Given the description of an element on the screen output the (x, y) to click on. 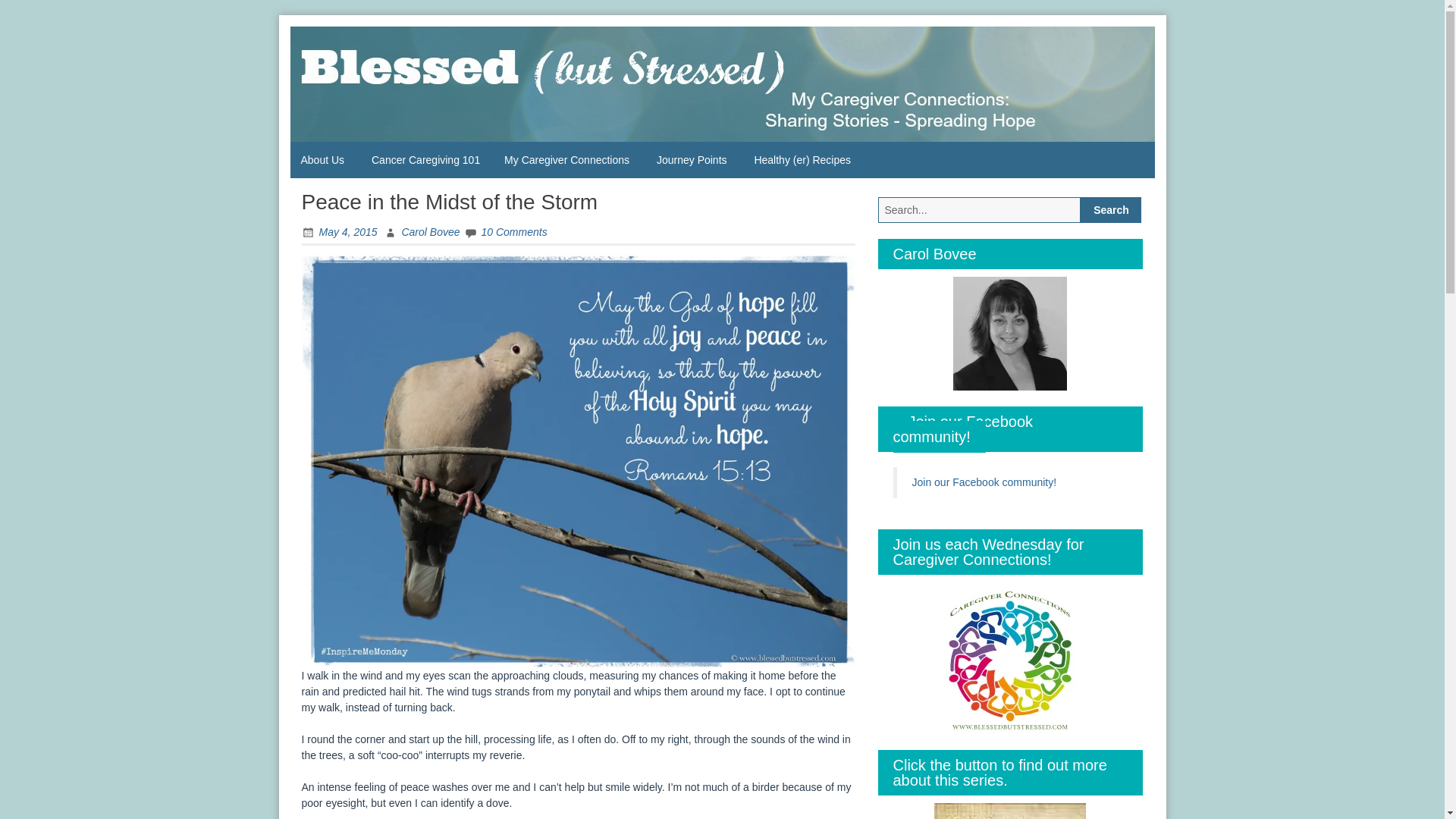
Search (1110, 209)
Search (1110, 209)
Carol Bovee (422, 232)
About Us (323, 159)
Cancer Caregiving 101 (425, 159)
May 4, 2015 (339, 232)
Journey Points (693, 159)
Search for: (979, 209)
10 Comments (505, 232)
My Caregiver Connections (568, 159)
